Given the description of an element on the screen output the (x, y) to click on. 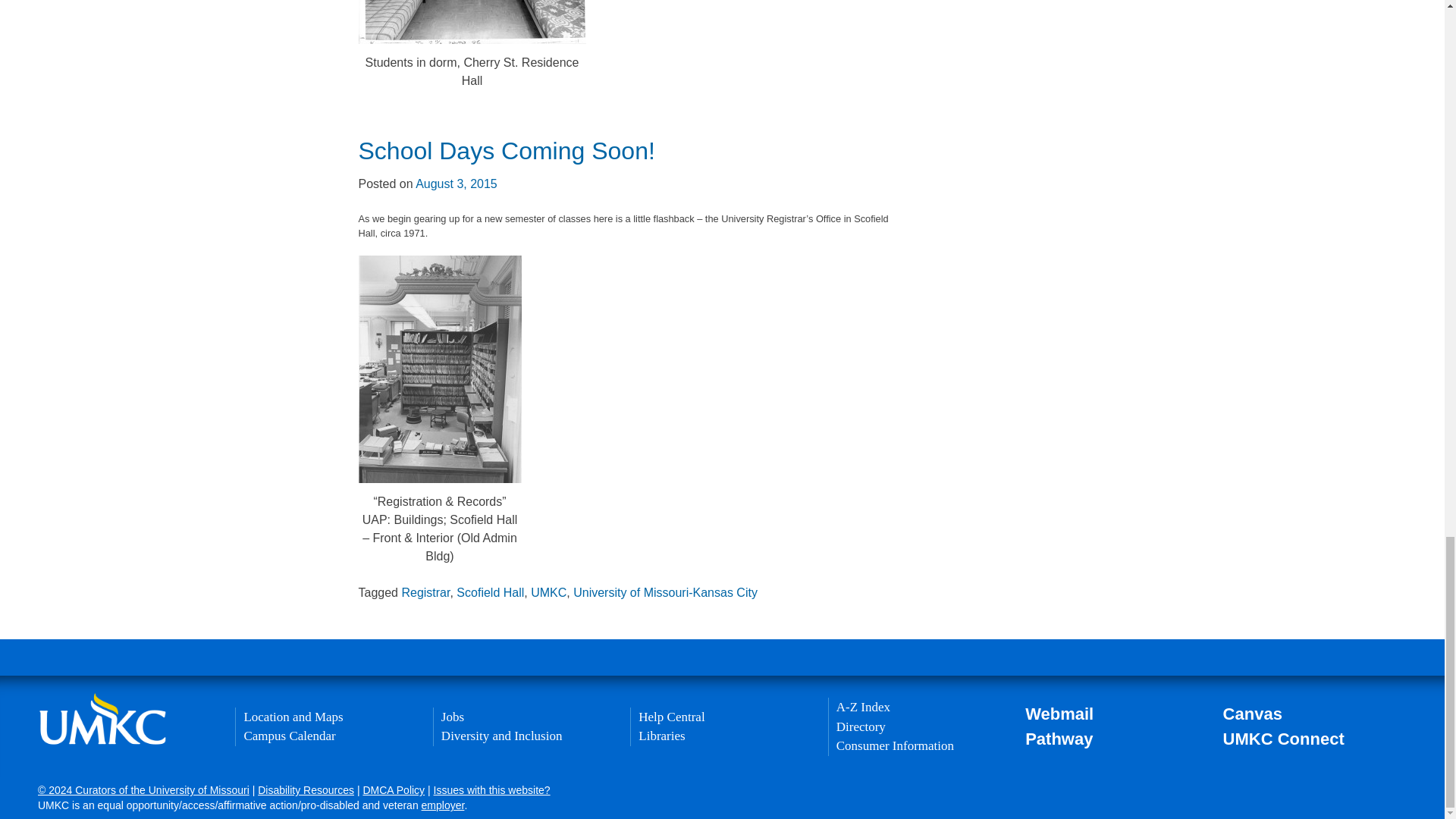
UMKC Logo (102, 719)
August 3, 2015 (455, 183)
School Days Coming Soon! (505, 150)
Scofield Hall (490, 592)
University of Missouri-Kansas City (665, 592)
Registrar (425, 592)
UMKC (548, 592)
